Given the description of an element on the screen output the (x, y) to click on. 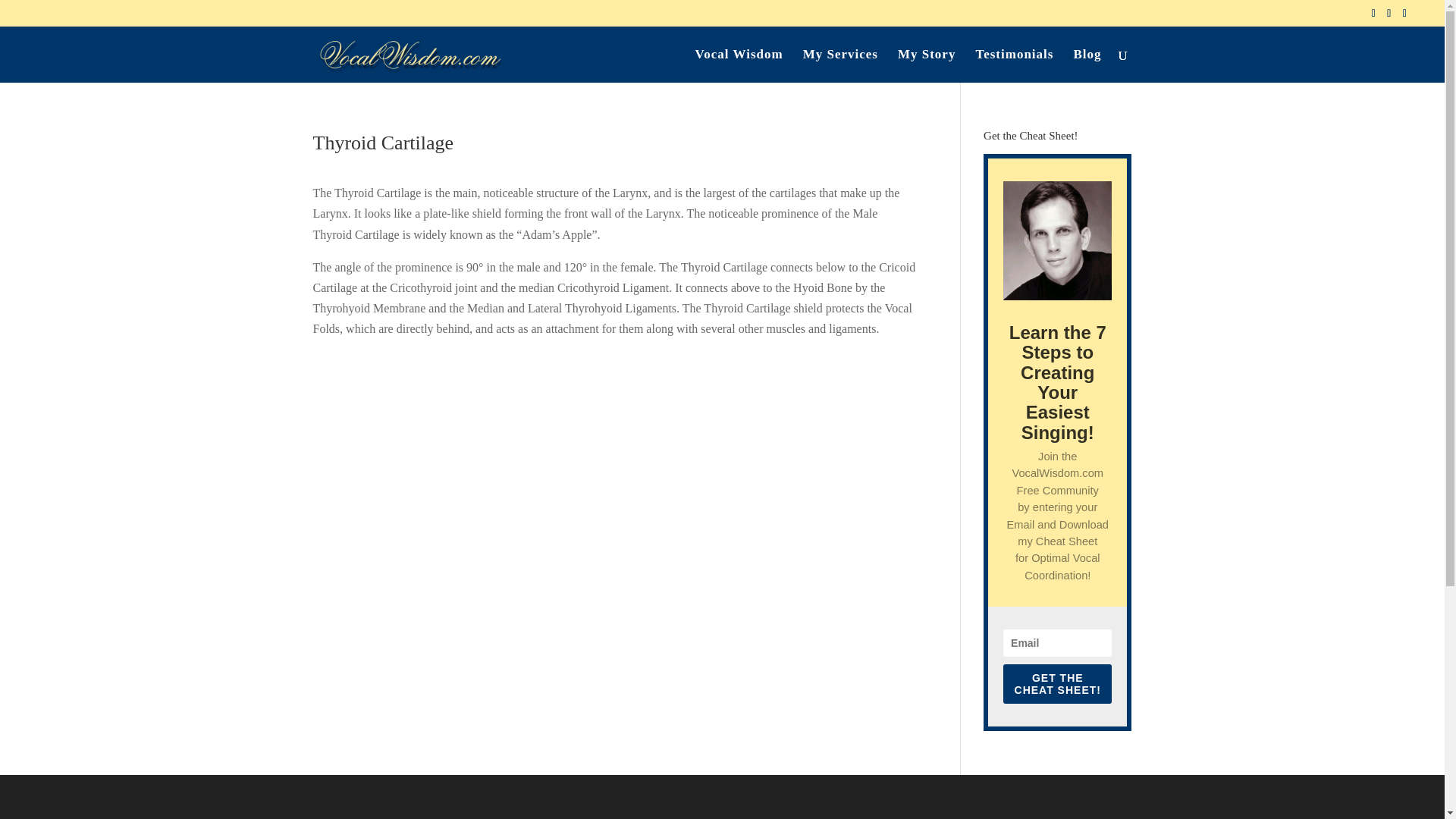
GET THE CHEAT SHEET! (1057, 683)
My Services (840, 65)
Vocal Wisdom (739, 65)
Testimonials (1013, 65)
My Story (926, 65)
